Given the description of an element on the screen output the (x, y) to click on. 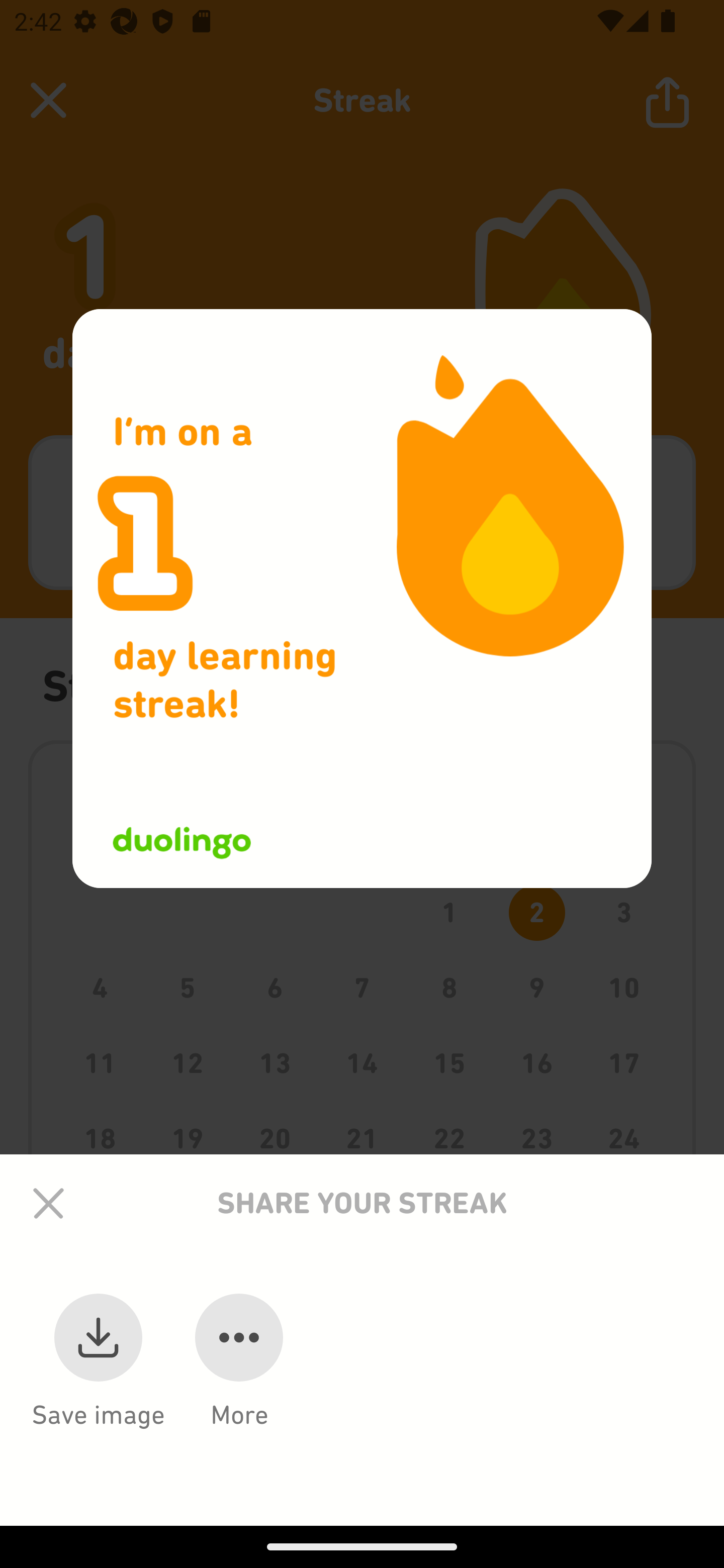
Save image (98, 1388)
More (238, 1388)
